Given the description of an element on the screen output the (x, y) to click on. 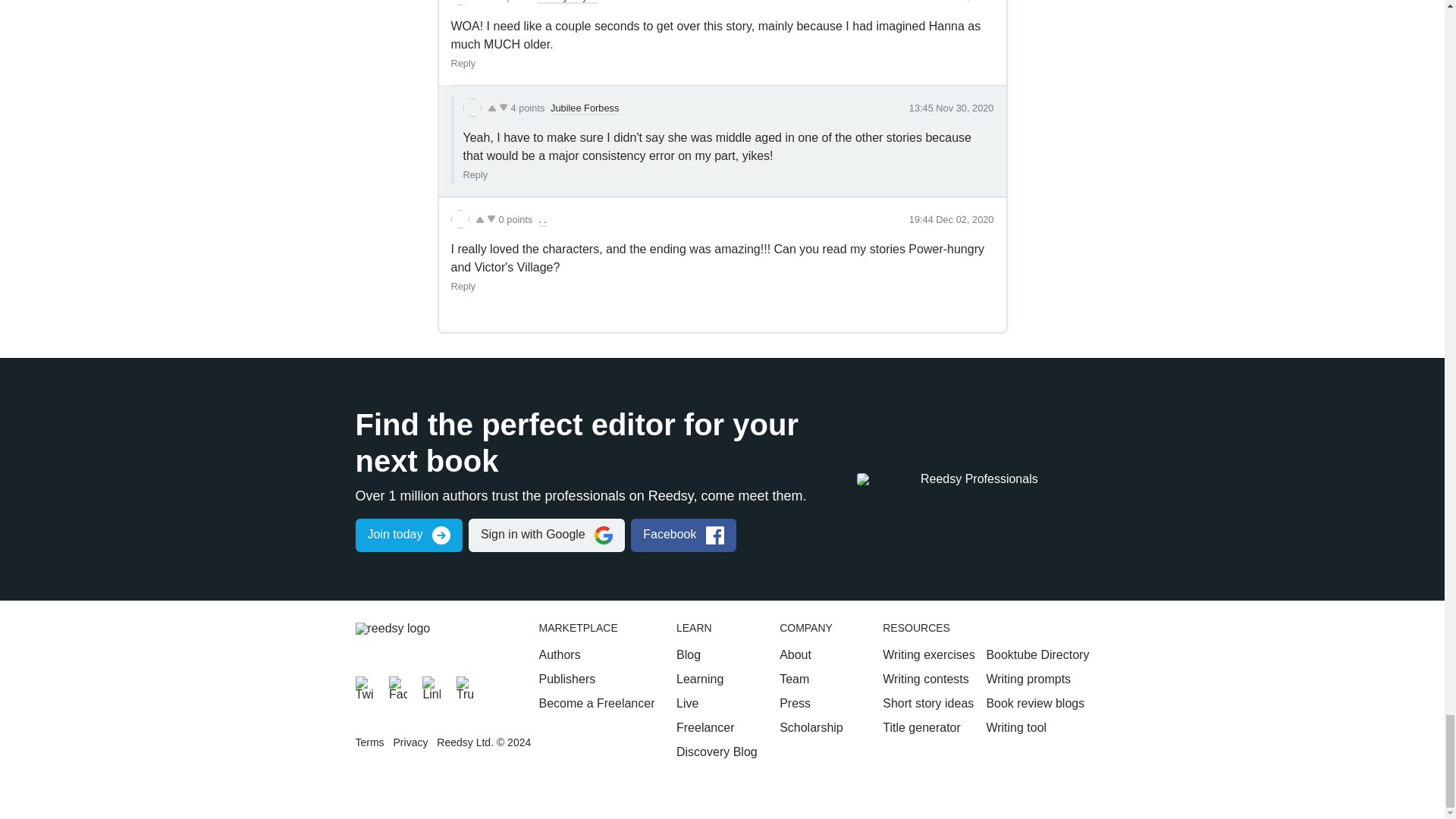
Sign up (408, 535)
Sign in with Facebook (683, 535)
Twitter (363, 685)
Trustpilot (465, 685)
LinkedIn (431, 685)
Facebook (397, 685)
Sign in with Google (546, 535)
